Given the description of an element on the screen output the (x, y) to click on. 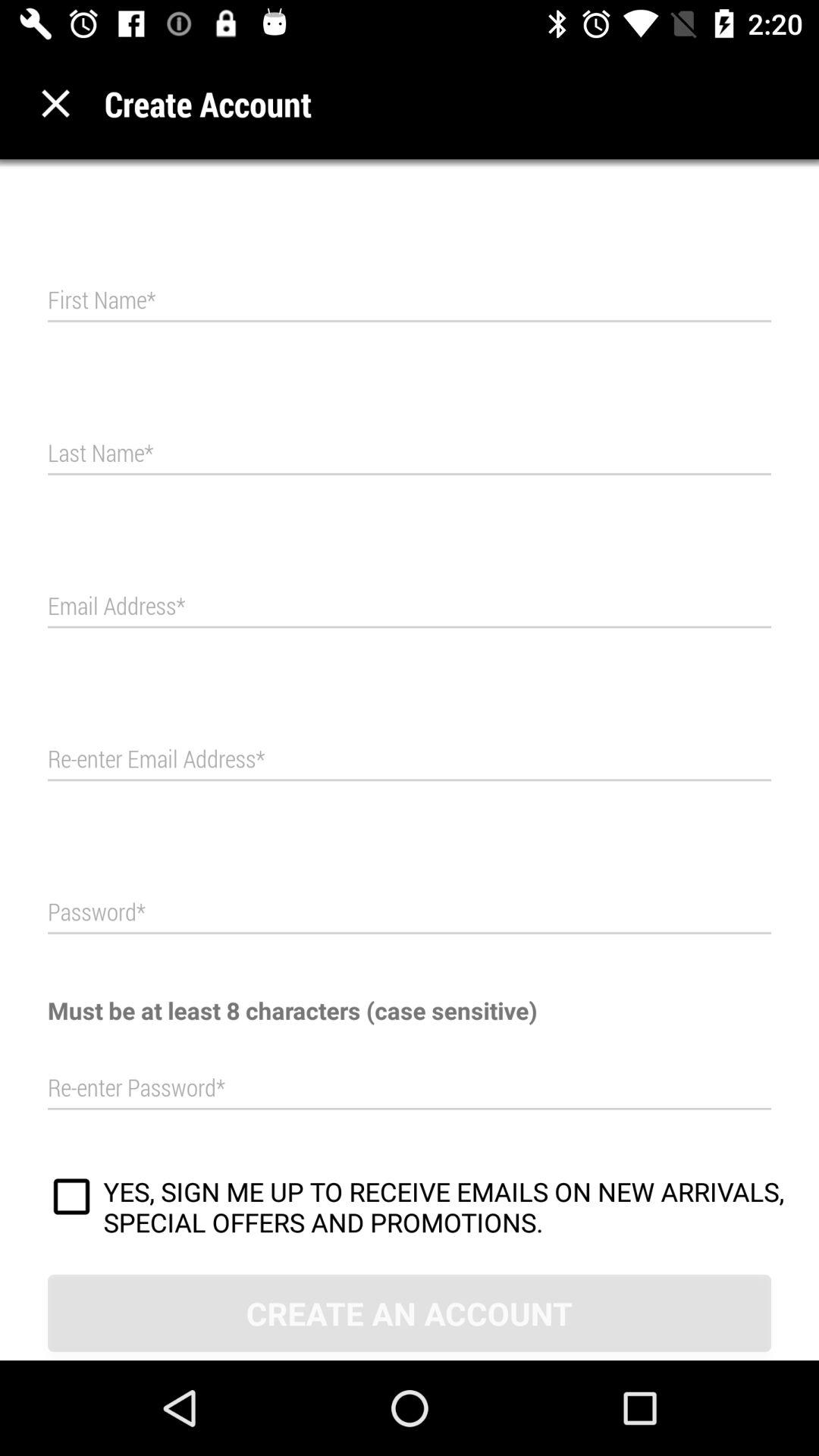
enter again email address (409, 759)
